Given the description of an element on the screen output the (x, y) to click on. 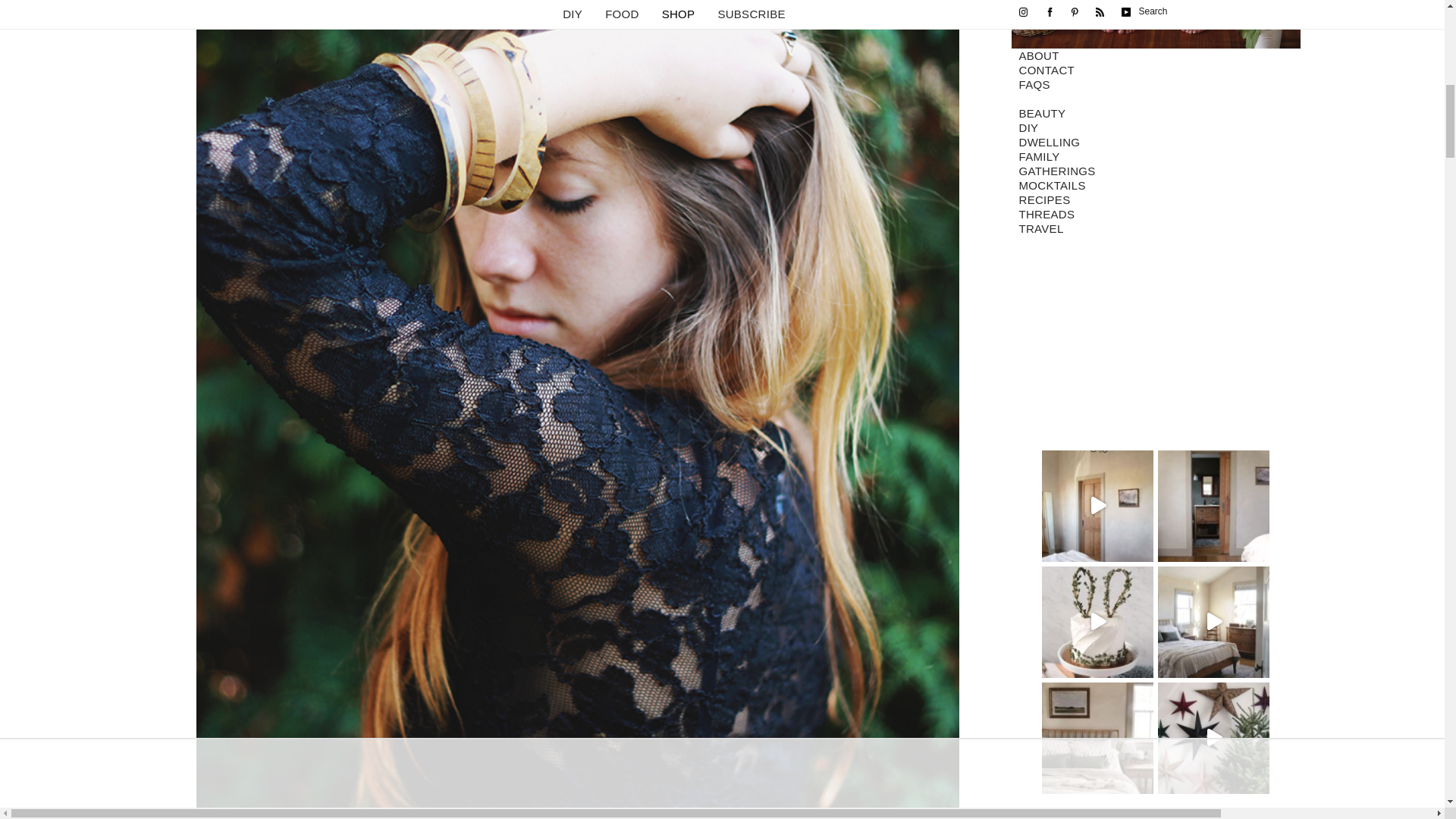
GATHERINGS (1155, 171)
THREADS (1155, 214)
FAQS (1155, 84)
FAMILY (1155, 156)
MOCKTAILS (1155, 186)
ABOUT (1155, 55)
RECIPES (1155, 200)
DIY (1155, 128)
DWELLING (1155, 142)
CONTACT (1155, 70)
BEAUTY (1155, 113)
